Given the description of an element on the screen output the (x, y) to click on. 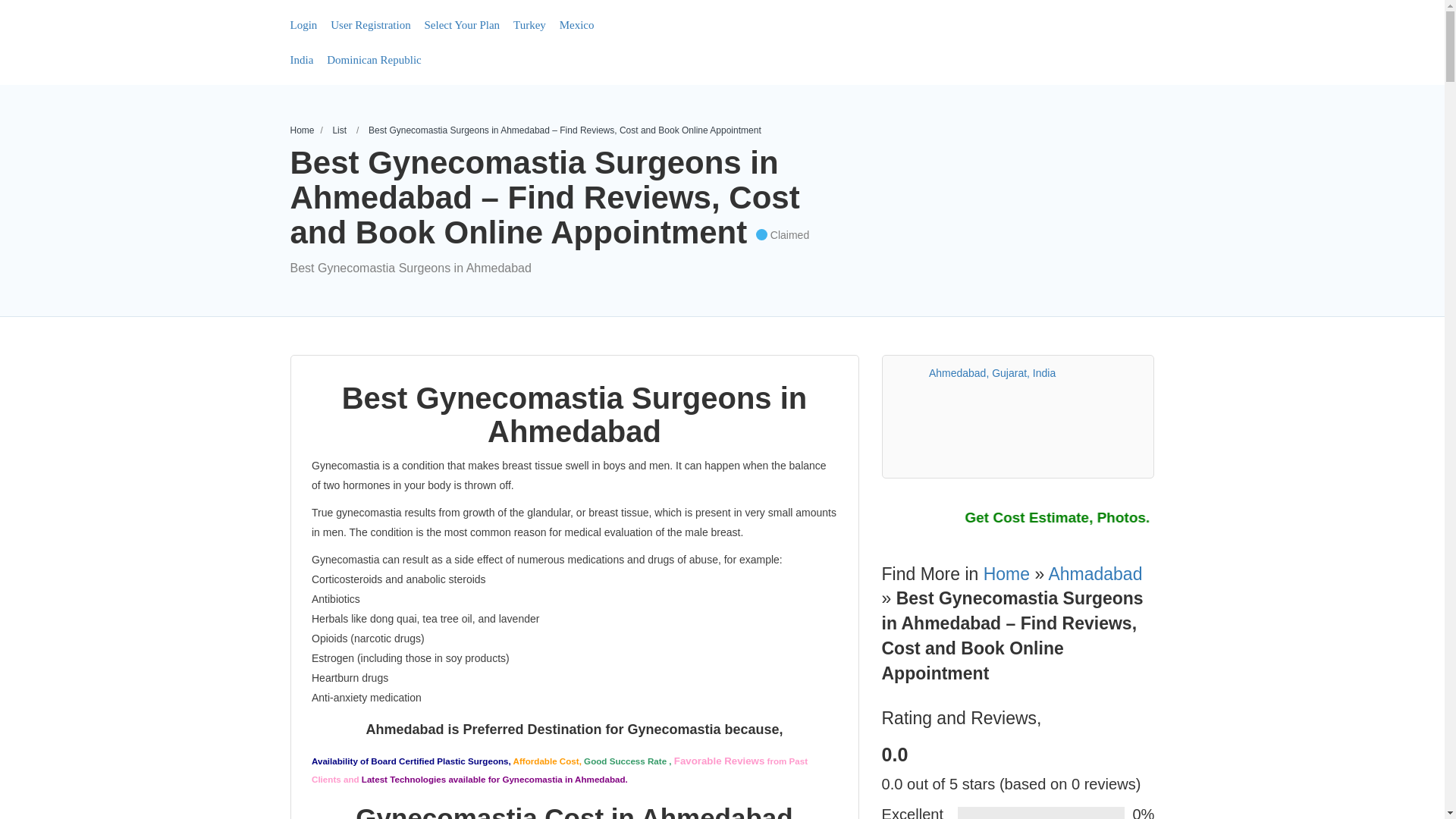
Home (301, 130)
Select Your Plan (462, 24)
List (338, 130)
Turkey (529, 24)
Login (303, 24)
User Registration (370, 24)
Mexico (576, 24)
Dominican Republic (374, 60)
Submit (411, 502)
India (301, 60)
